Given the description of an element on the screen output the (x, y) to click on. 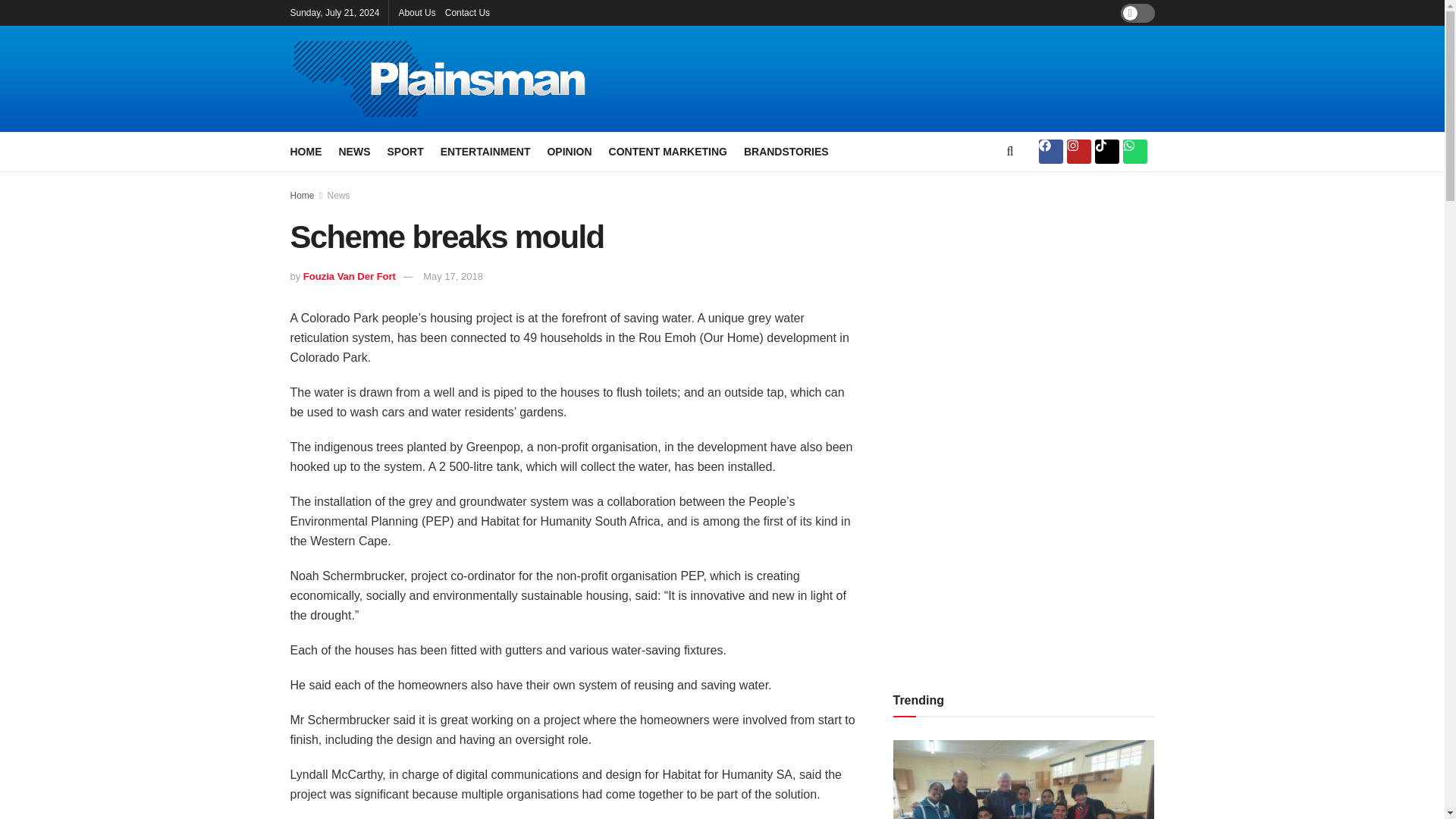
3rd party ad content (888, 79)
SPORT (405, 151)
May 17, 2018 (453, 276)
Contact Us (467, 12)
BRANDSTORIES (786, 151)
NEWS (353, 151)
About Us (416, 12)
OPINION (569, 151)
Fouzia Van Der Fort (349, 276)
HOME (305, 151)
ENTERTAINMENT (486, 151)
Home (301, 195)
CONTENT MARKETING (667, 151)
News (338, 195)
